Given the description of an element on the screen output the (x, y) to click on. 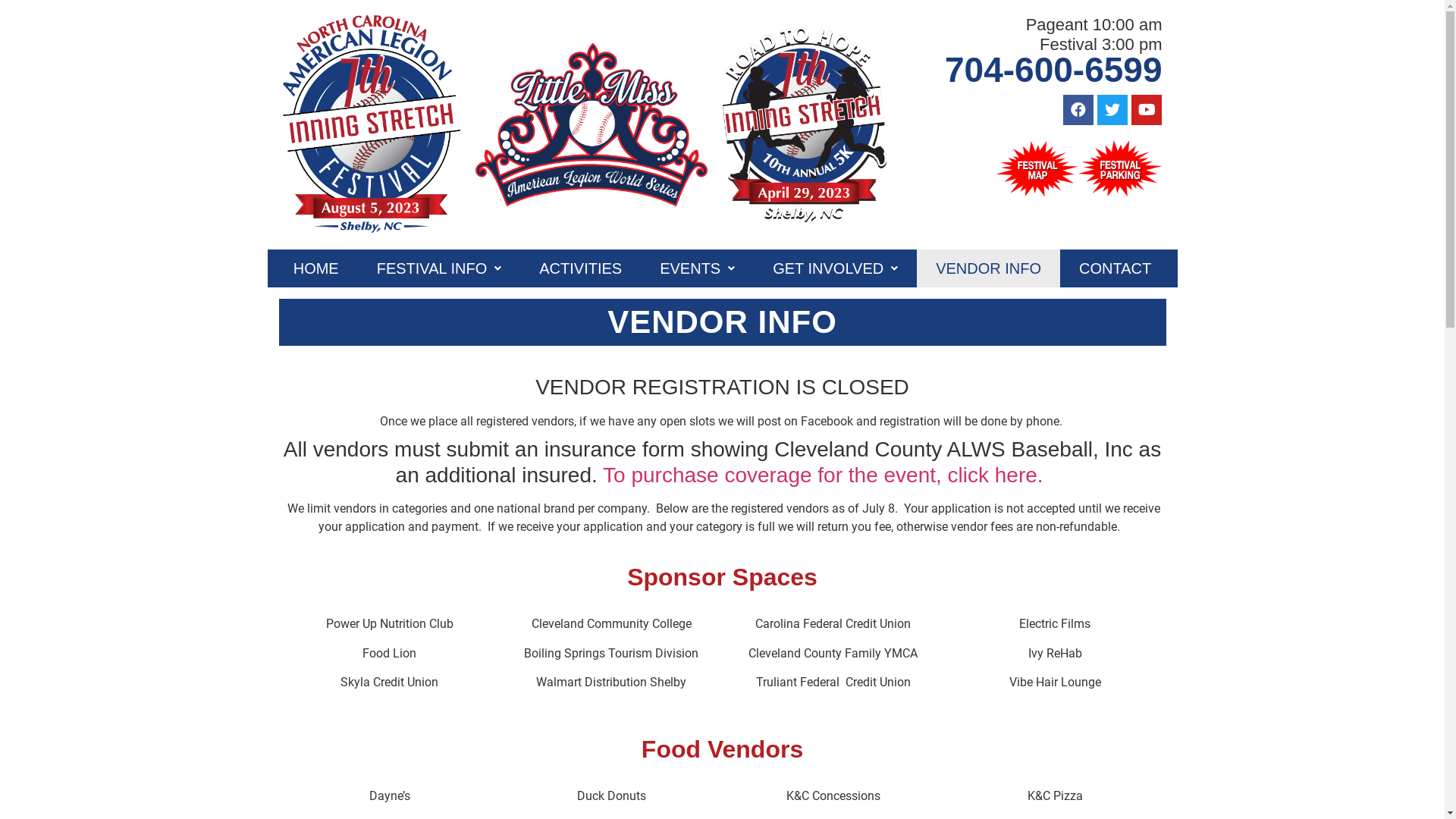
ACTIVITIES Element type: text (580, 268)
CONTACT Element type: text (1115, 268)
EVENTS Element type: text (696, 268)
VENDOR INFO Element type: text (722, 322)
To purchase coverage for the event, click here.  Element type: text (825, 474)
GET INVOLVED Element type: text (834, 268)
FESTIVAL INFO Element type: text (438, 268)
HOME Element type: text (315, 268)
VENDOR INFO Element type: text (988, 268)
